Given the description of an element on the screen output the (x, y) to click on. 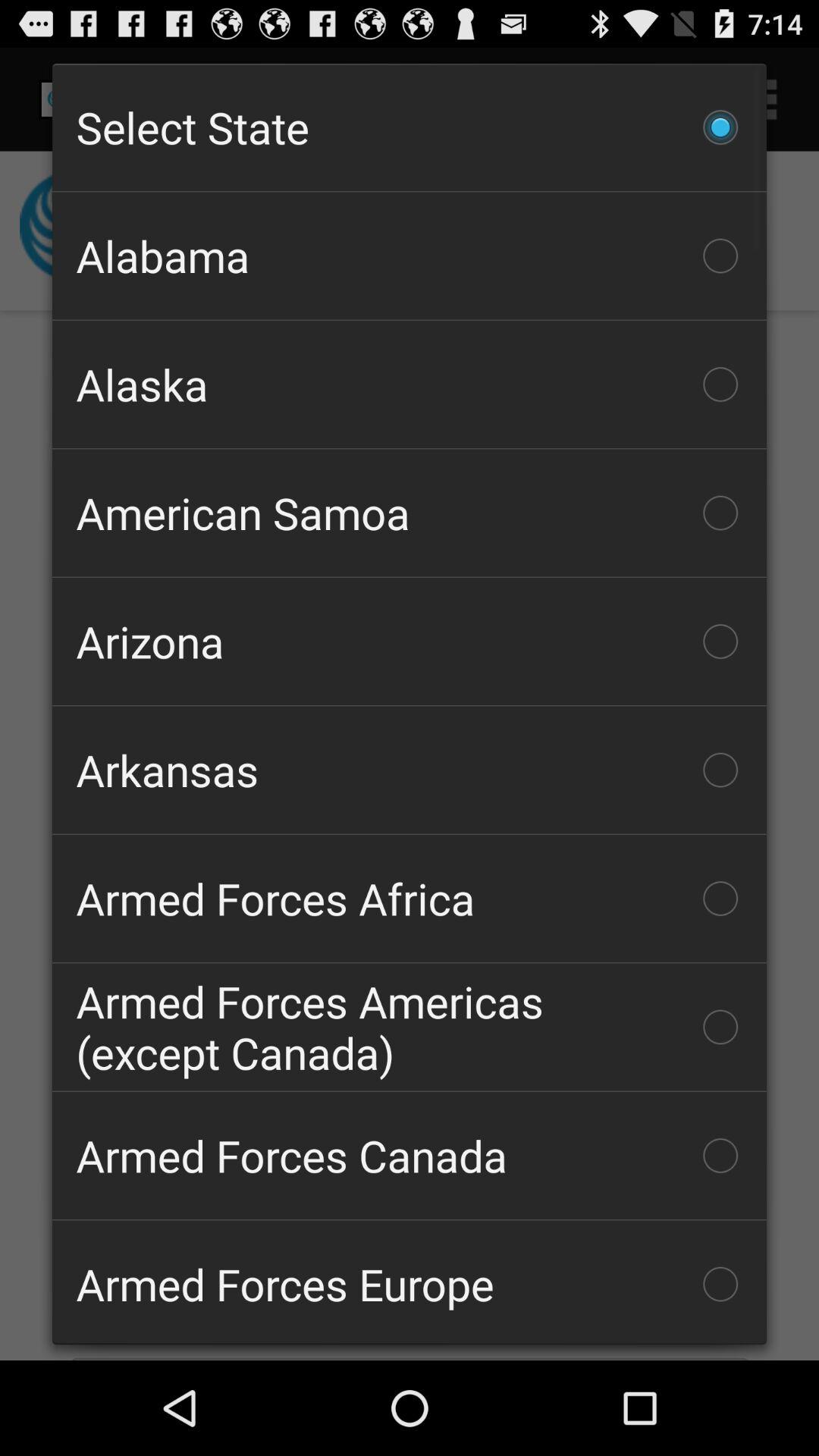
click the item below the american samoa icon (409, 641)
